Given the description of an element on the screen output the (x, y) to click on. 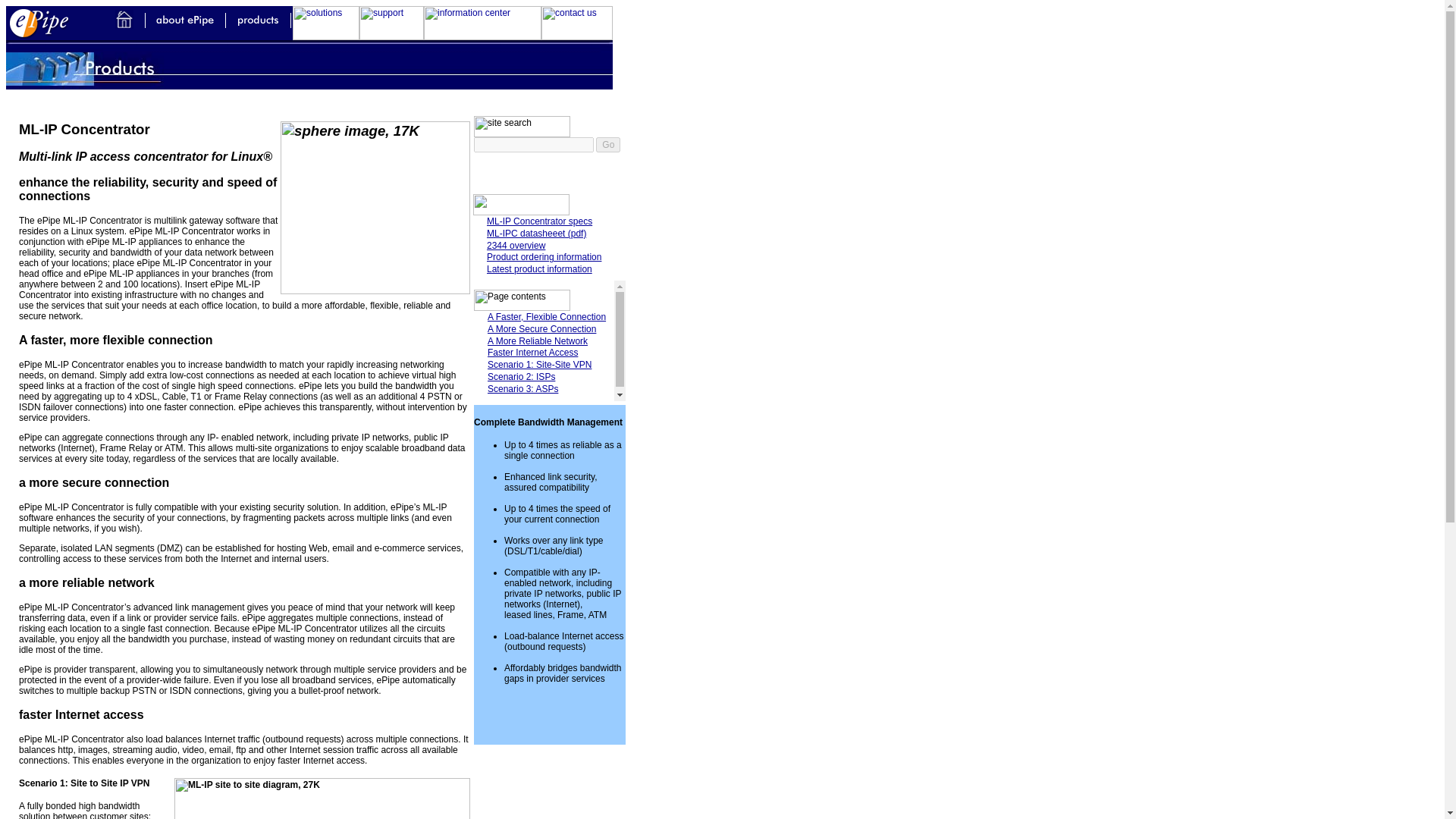
Go (607, 144)
